Given the description of an element on the screen output the (x, y) to click on. 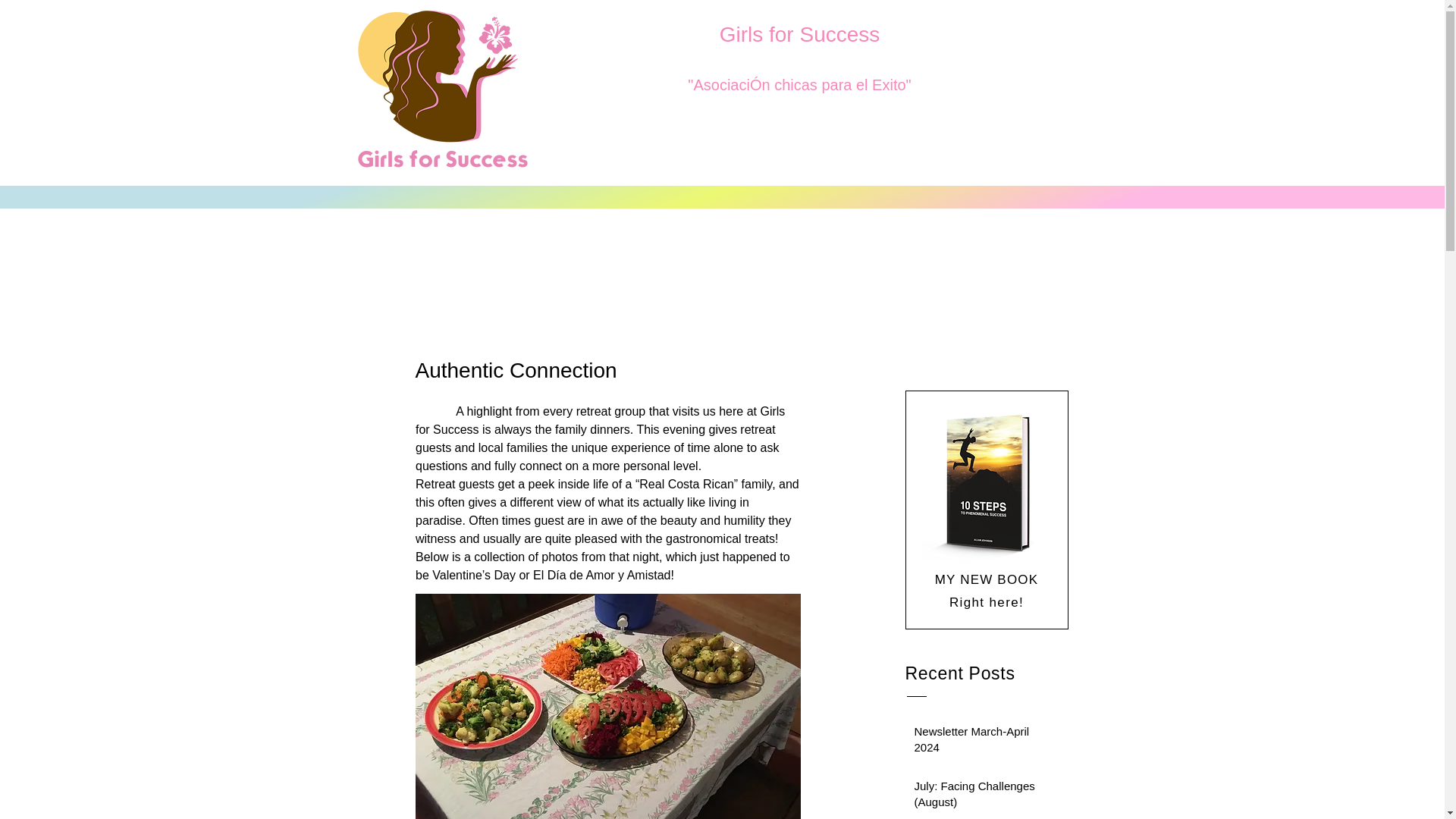
Right here! (986, 602)
MY NEW BOOK (986, 579)
Newsletter March-April 2024 (982, 742)
